Given the description of an element on the screen output the (x, y) to click on. 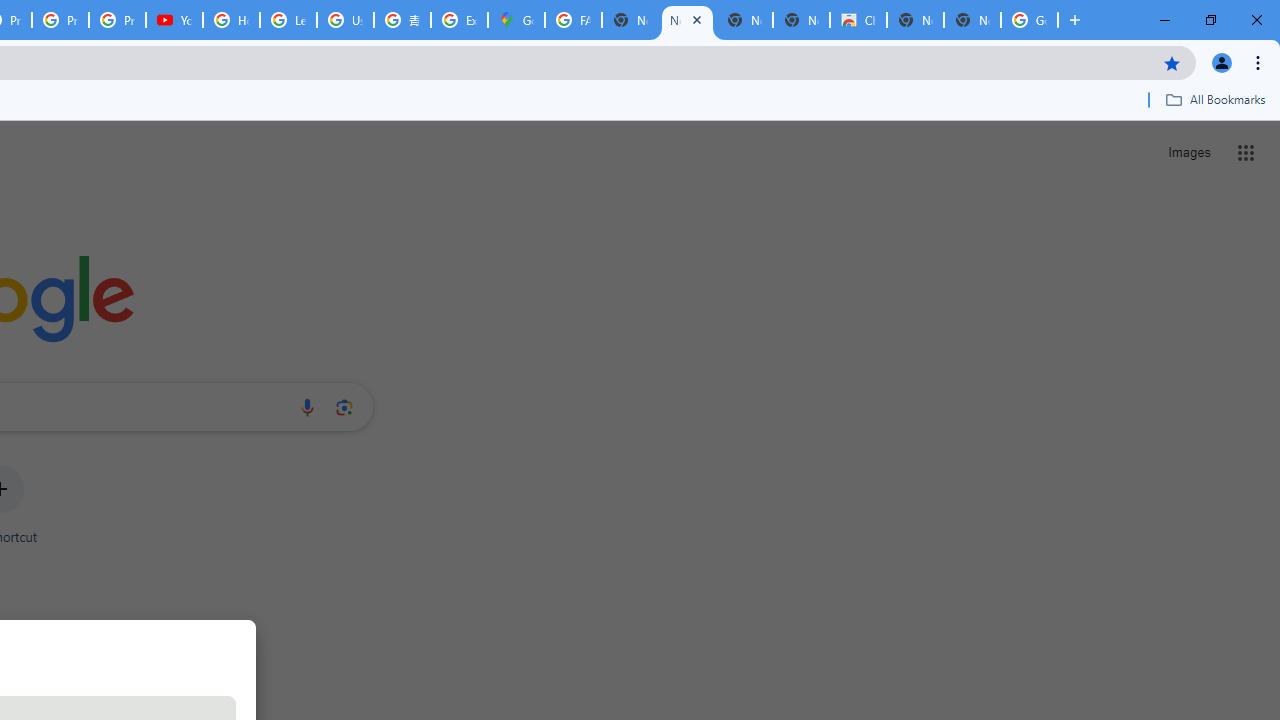
Google Images (1029, 20)
Chrome Web Store (858, 20)
How Chrome protects your passwords - Google Chrome Help (231, 20)
Privacy Checkup (116, 20)
New Tab (971, 20)
Explore new street-level details - Google Maps Help (459, 20)
